Given the description of an element on the screen output the (x, y) to click on. 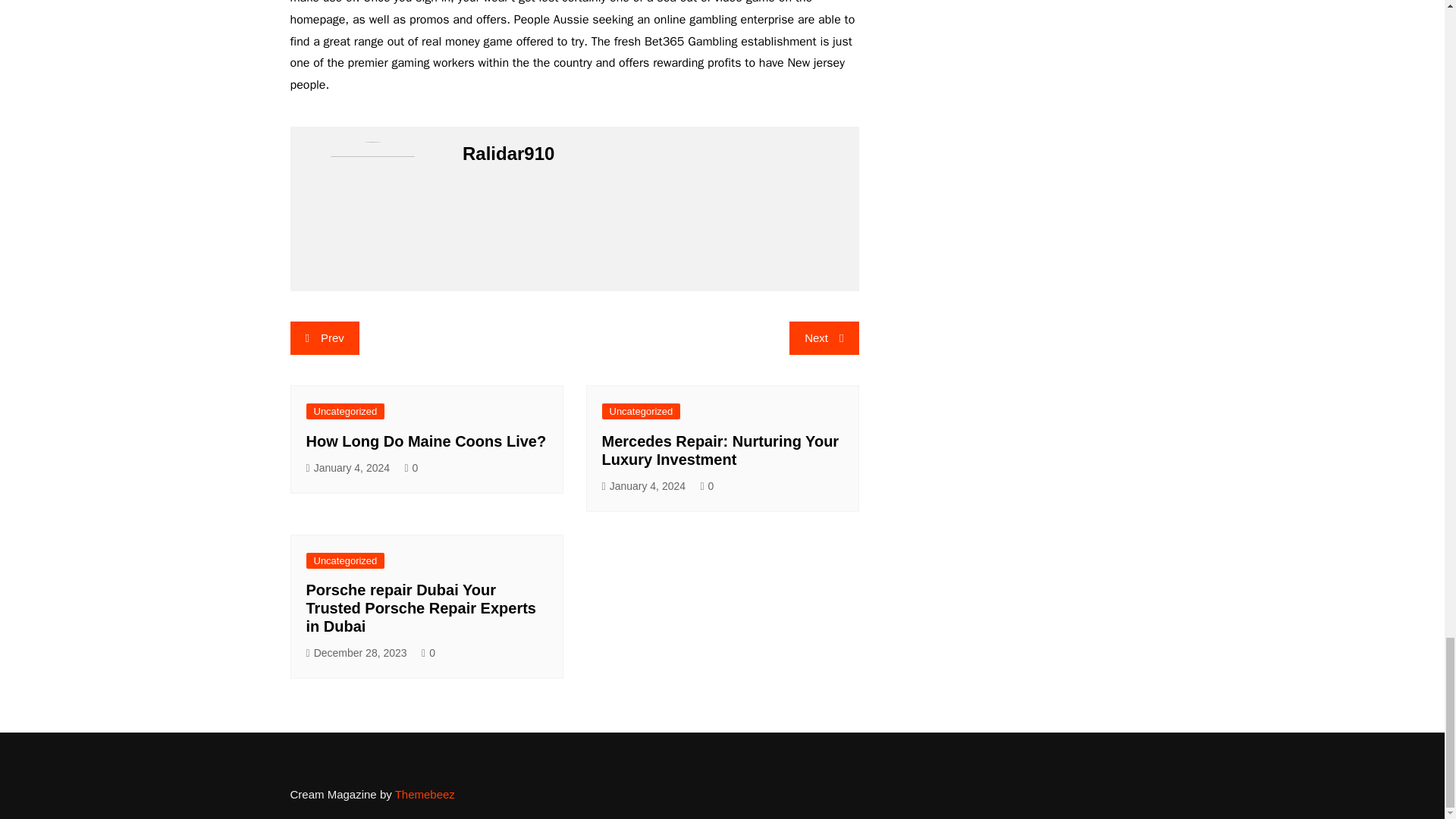
January 4, 2024 (643, 486)
Next (824, 337)
0 (410, 467)
Uncategorized (641, 411)
0 (706, 486)
How Long Do Maine Coons Live? (426, 441)
Uncategorized (345, 411)
Prev (323, 337)
0 (428, 652)
Uncategorized (345, 560)
January 4, 2024 (347, 467)
December 28, 2023 (356, 652)
Mercedes Repair: Nurturing Your Luxury Investment (721, 450)
